Given the description of an element on the screen output the (x, y) to click on. 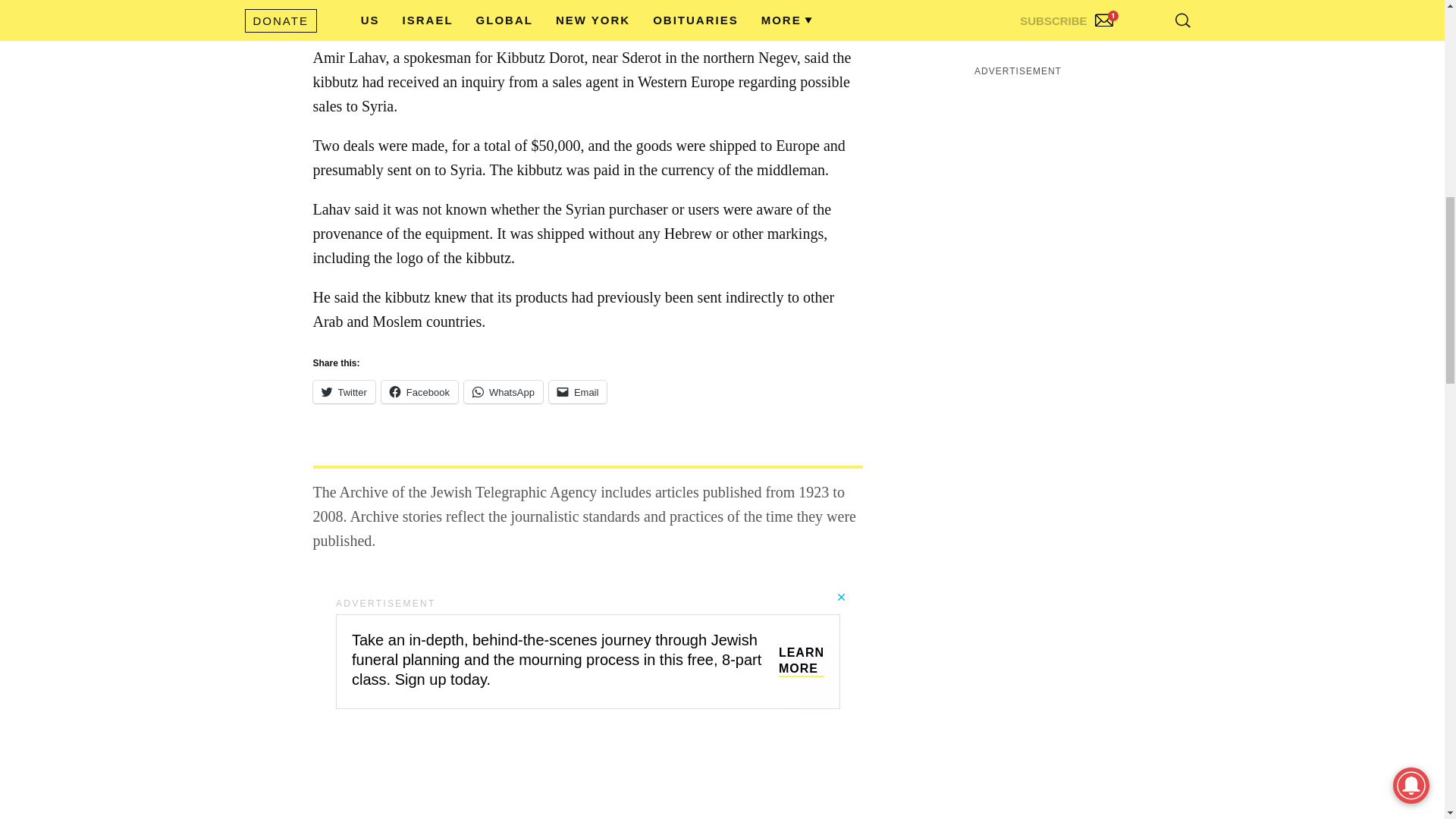
3rd party ad content (587, 653)
Click to share on Twitter (343, 391)
Click to share on Facebook (419, 391)
Click to email a link to a friend (577, 391)
Click to share on WhatsApp (503, 391)
